Given the description of an element on the screen output the (x, y) to click on. 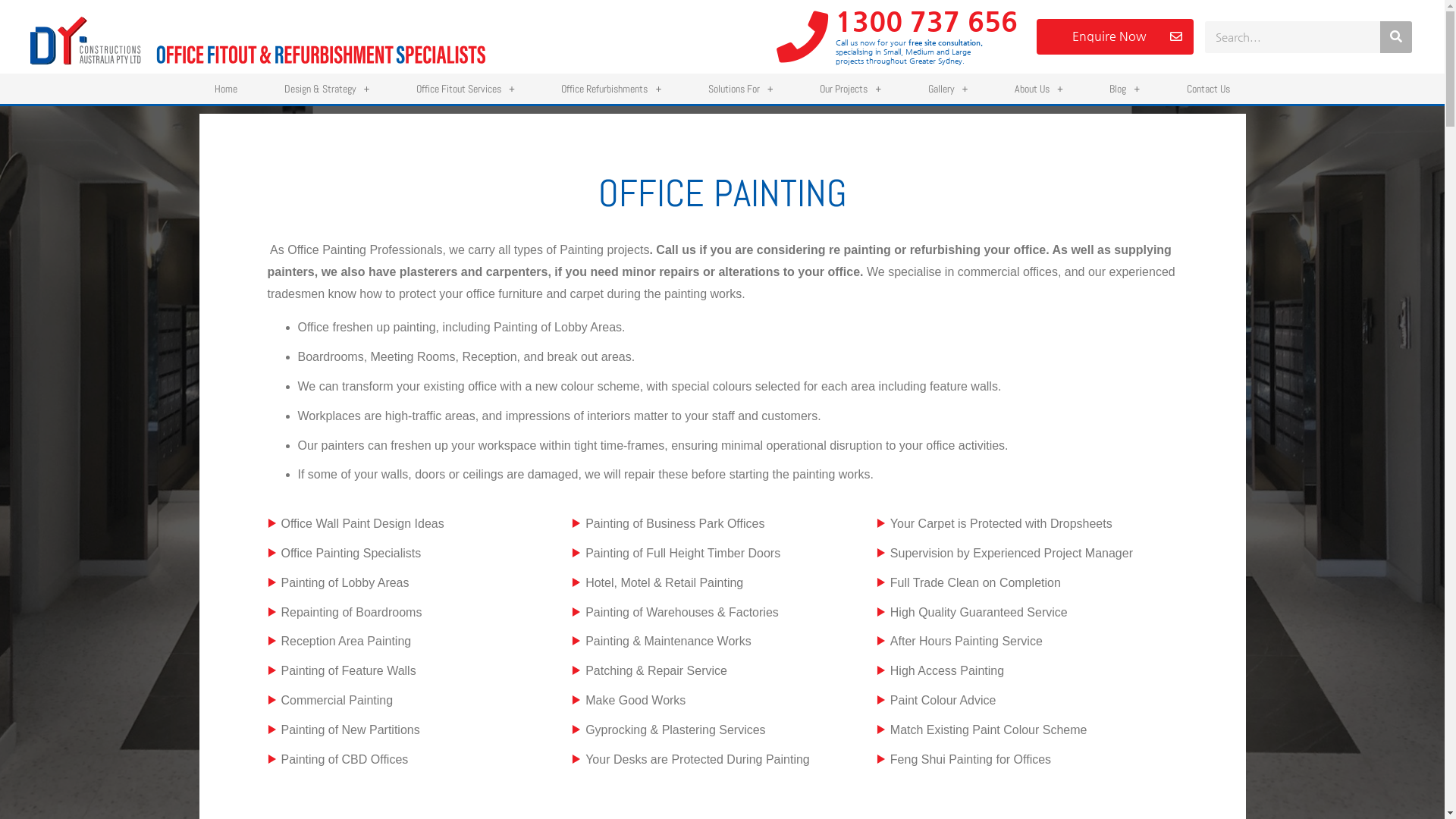
Home Element type: text (225, 88)
Office Fitout Services Element type: text (464, 88)
Enquire Now Element type: text (1114, 36)
1300 737 656 Element type: text (926, 20)
Blog Element type: text (1124, 88)
About Us Element type: text (1038, 88)
Contact Us Element type: text (1207, 88)
Office Refurbishments Element type: text (611, 88)
Gallery Element type: text (947, 88)
Design & Strategy Element type: text (326, 88)
Our Projects Element type: text (849, 88)
Solutions For Element type: text (740, 88)
